Given the description of an element on the screen output the (x, y) to click on. 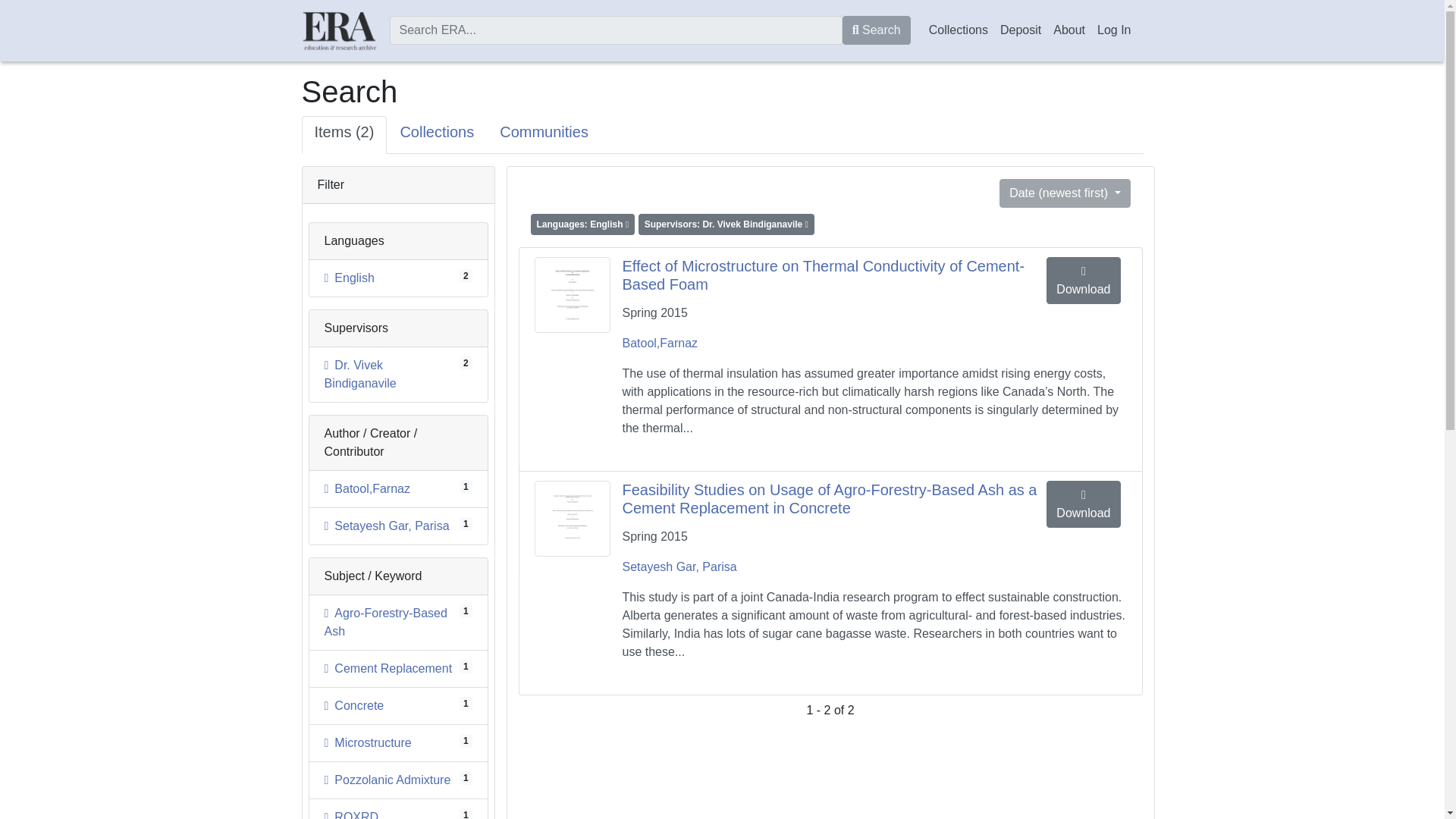
Search (877, 30)
Collections (354, 705)
Collections (958, 30)
About (436, 134)
Supervisors: Dr. Vivek Bindiganavile (1068, 30)
